Given the description of an element on the screen output the (x, y) to click on. 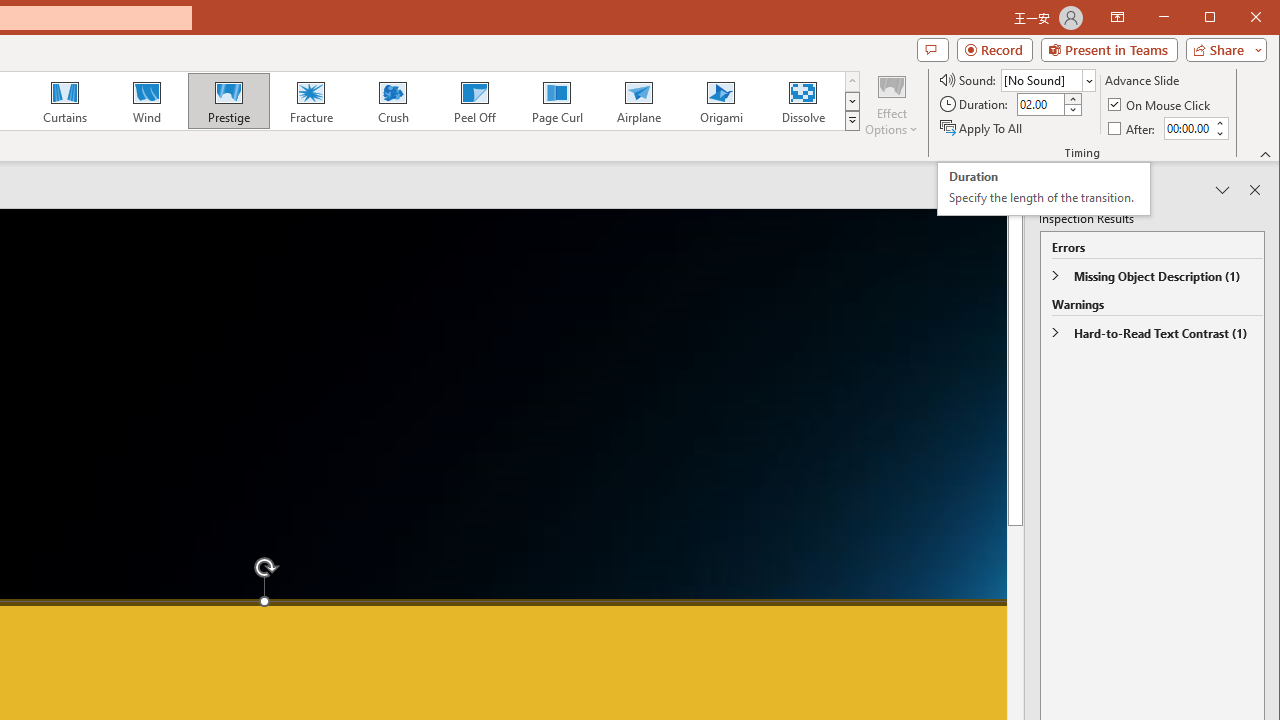
Dissolve (802, 100)
Airplane (638, 100)
Peel Off (474, 100)
Curtains (65, 100)
After (1187, 128)
